Given the description of an element on the screen output the (x, y) to click on. 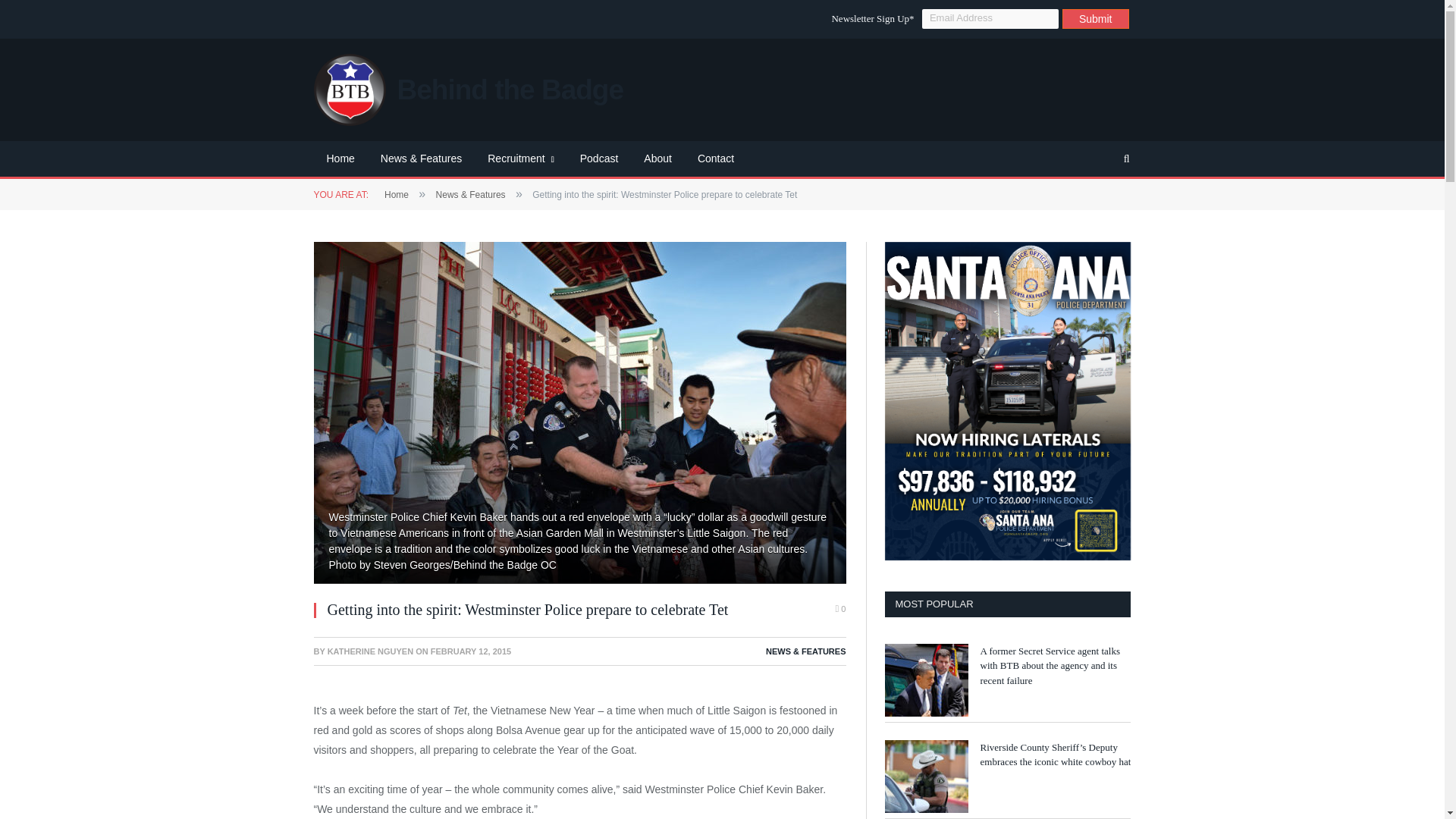
Recruitment (520, 159)
Home (396, 194)
Home (341, 159)
Podcast (599, 159)
Contact (715, 159)
About (657, 159)
Behind the Badge (469, 89)
2015-02-12 (470, 651)
